Given the description of an element on the screen output the (x, y) to click on. 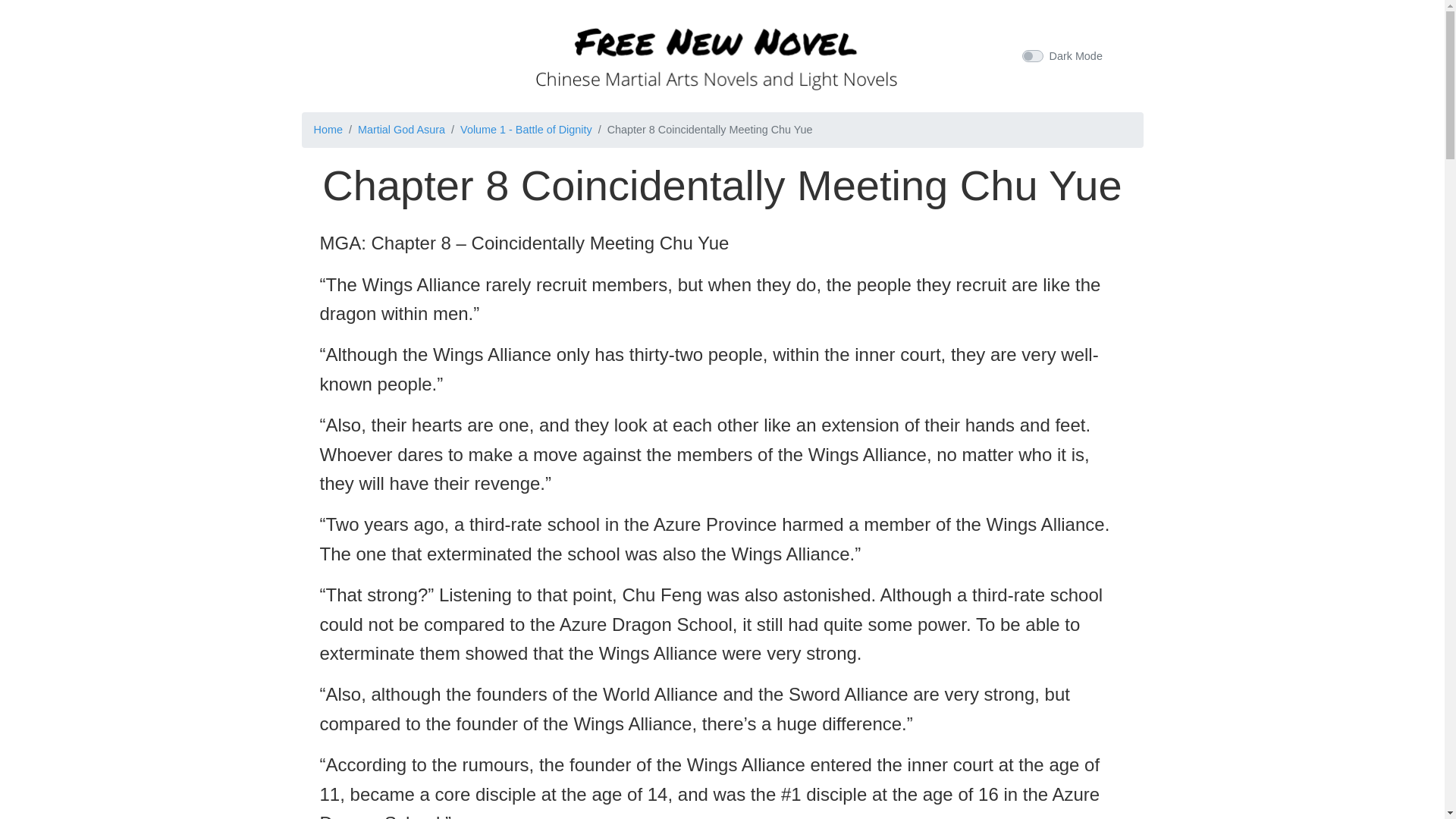
Home (328, 129)
Martial God Asura (401, 129)
Free Novel Online (716, 53)
Volume 1 - Battle of Dignity (526, 129)
